Given the description of an element on the screen output the (x, y) to click on. 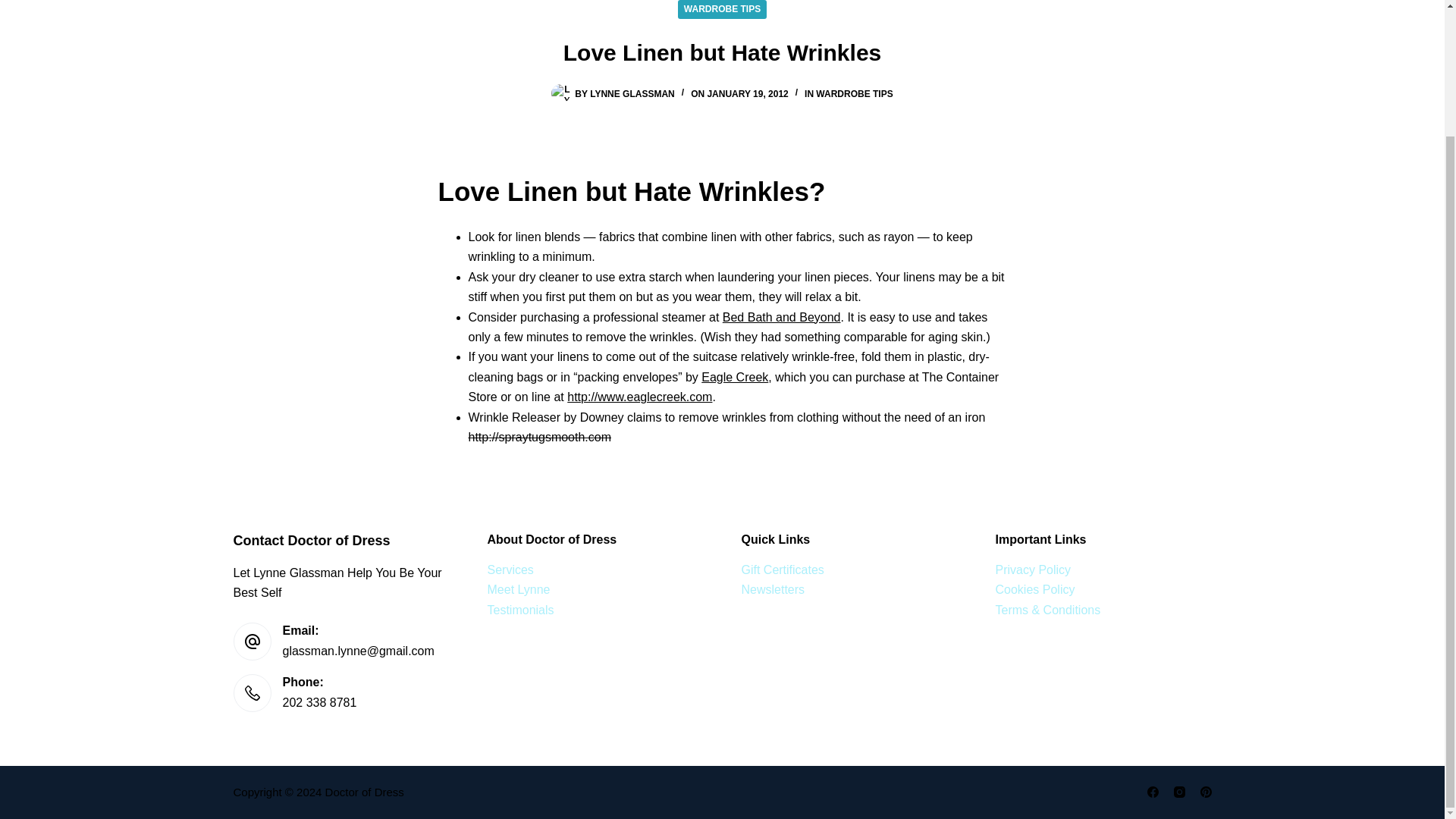
Posts by Lynne Glassman (632, 93)
Love Linen but Hate Wrinkles (722, 52)
